Given the description of an element on the screen output the (x, y) to click on. 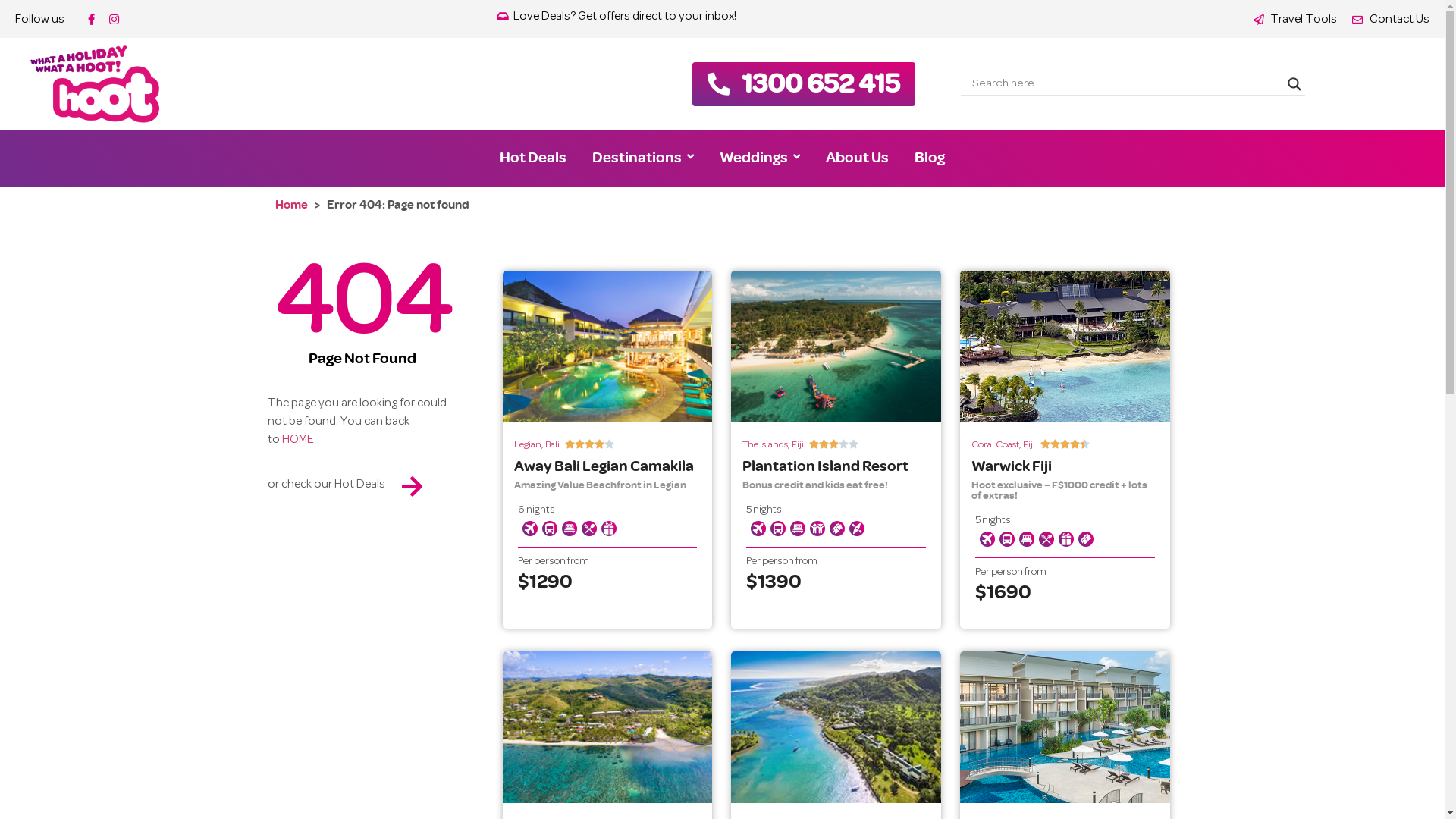
Hot Deals Element type: text (532, 156)
Away Bali Legian Camakila Element type: text (603, 465)
Warwick Fiji Element type: text (1011, 465)
Fiji Element type: text (797, 444)
1300 652 415 Element type: text (820, 81)
Travel Tools Element type: text (1295, 19)
HOME Element type: text (297, 439)
About Us Element type: text (857, 156)
Coral Coast Element type: text (995, 444)
Love Deals? Get offers direct to your inbox! Element type: text (616, 16)
Legian Element type: text (527, 444)
Weddings Element type: text (759, 156)
Fiji Element type: text (1028, 444)
Home Element type: text (290, 203)
Bali Element type: text (551, 444)
Blog Element type: text (929, 156)
The Islands Element type: text (764, 444)
Contact Us Element type: text (1390, 19)
Plantation Island Resort Element type: text (825, 465)
Destinations Element type: text (642, 156)
